Given the description of an element on the screen output the (x, y) to click on. 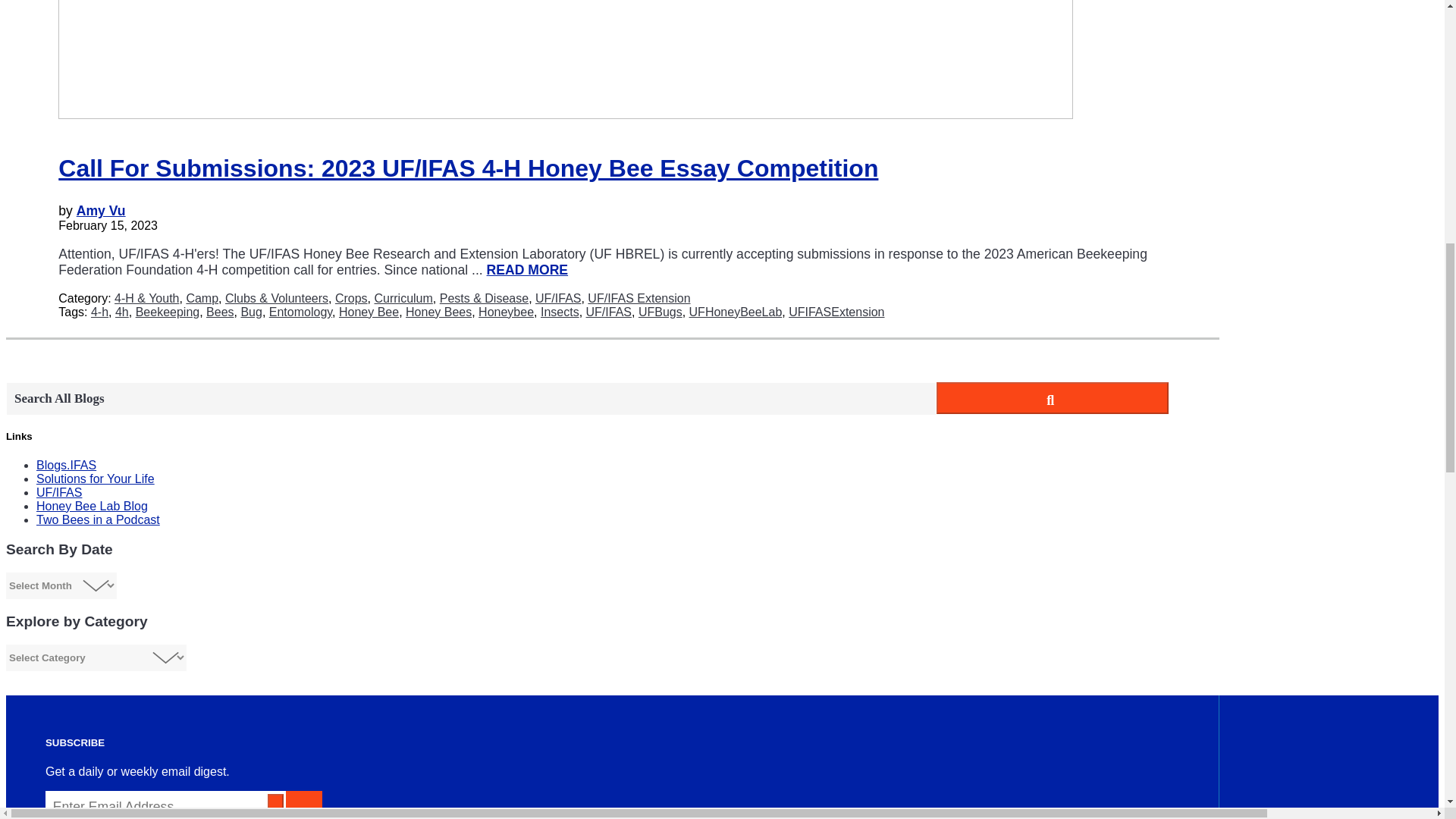
Enter Email Address (165, 805)
Search All Blogs (470, 398)
